Given the description of an element on the screen output the (x, y) to click on. 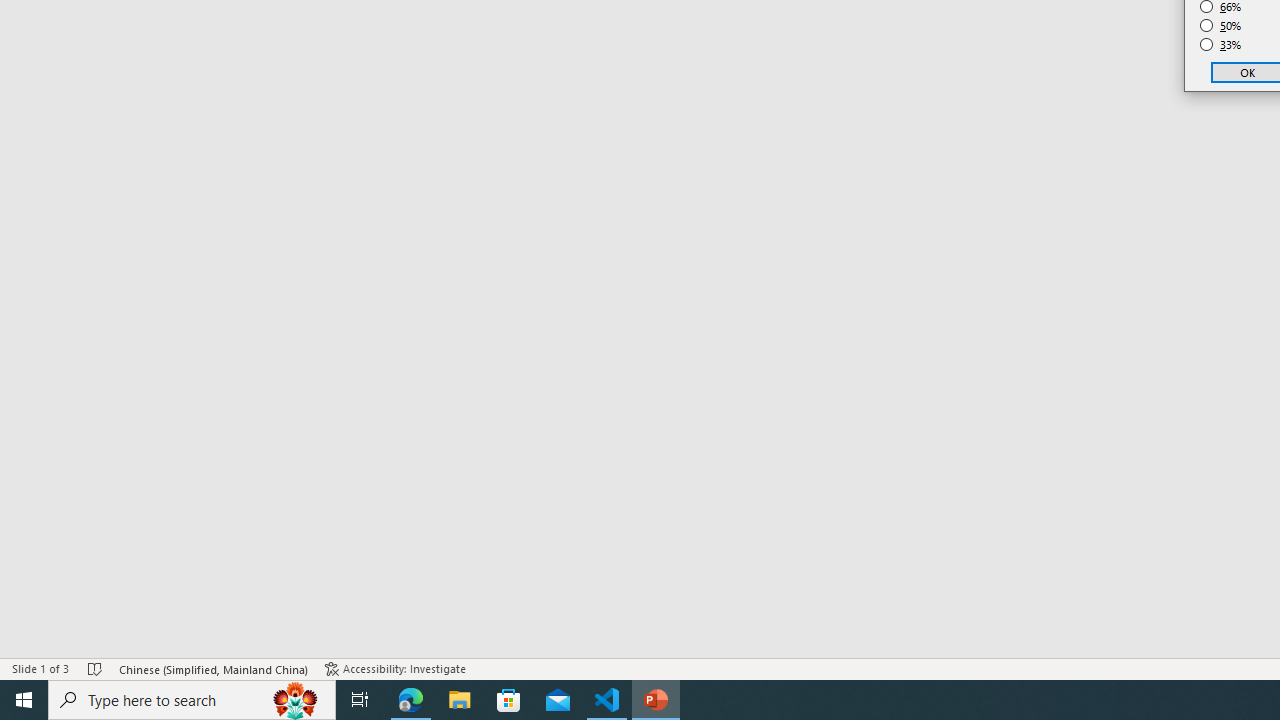
Microsoft Edge - 1 running window (411, 699)
33% (1221, 44)
50% (1221, 25)
